Given the description of an element on the screen output the (x, y) to click on. 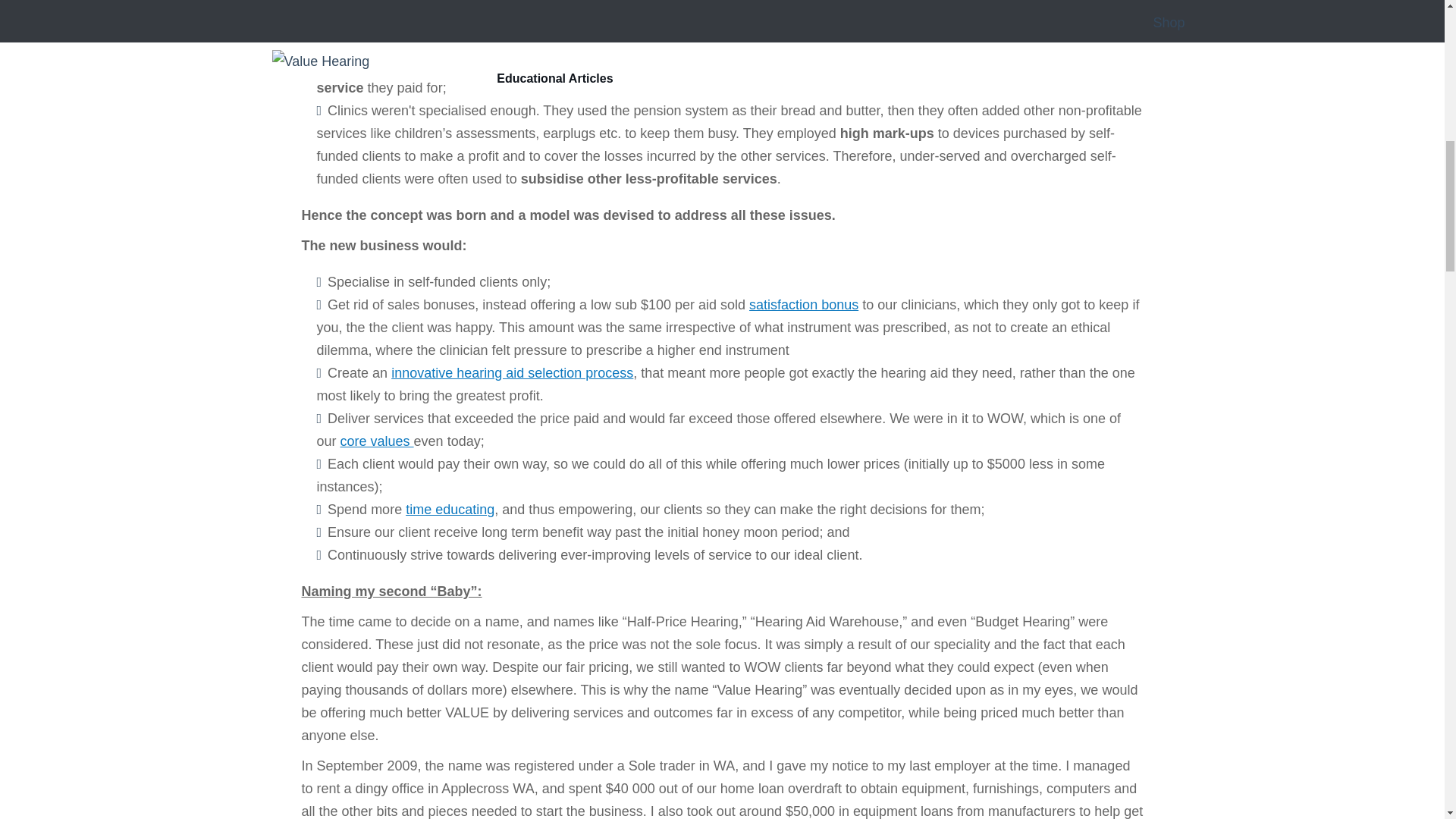
innovative hearing aid selection process (512, 372)
core values (376, 441)
time educating (450, 509)
satisfaction bonus (804, 304)
